Given the description of an element on the screen output the (x, y) to click on. 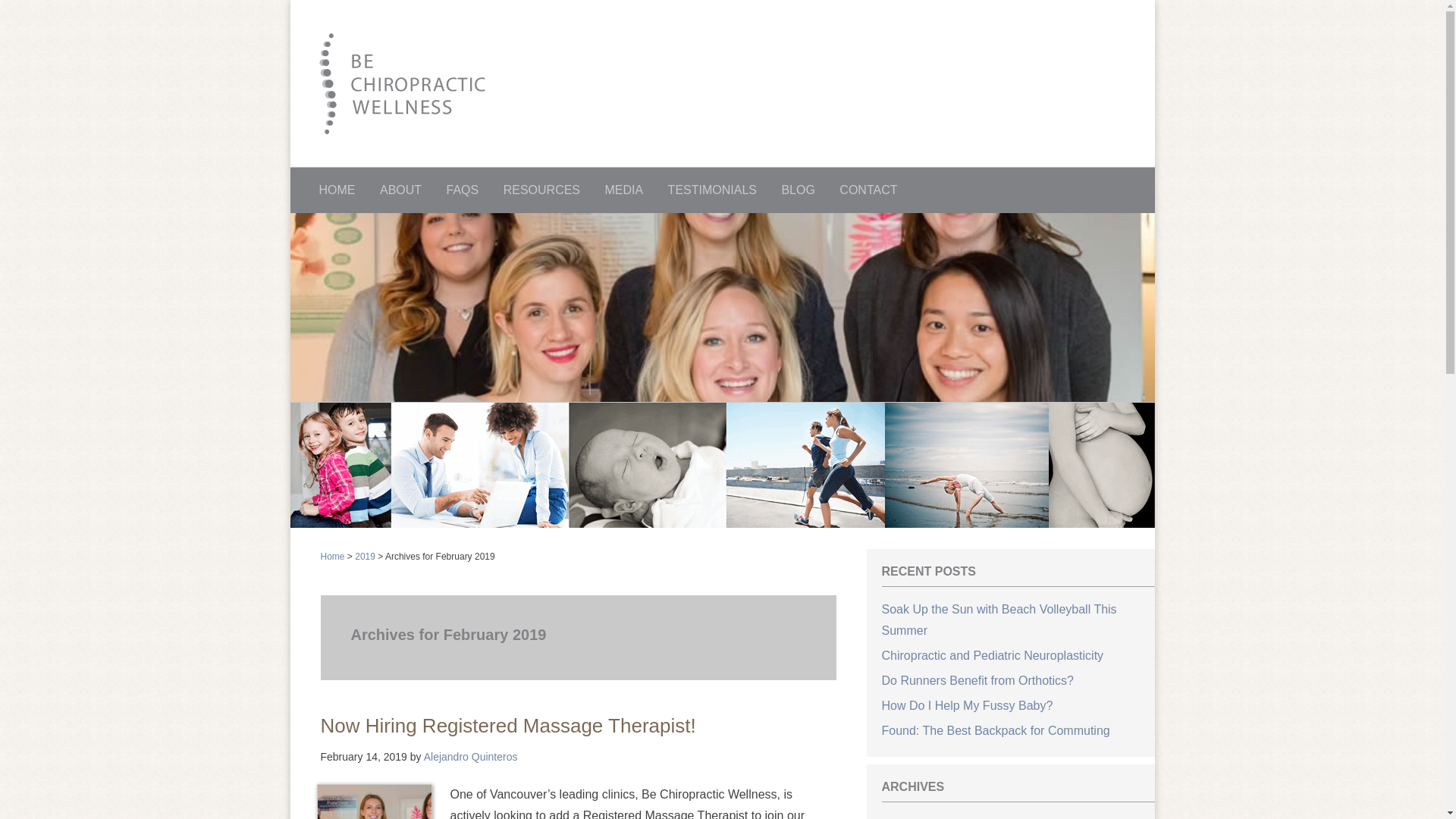
FAQS Element type: text (462, 190)
Alejandro Quinteros Element type: text (470, 756)
BLOG Element type: text (797, 190)
HOME Element type: text (336, 190)
Home Element type: text (332, 556)
2019 Element type: text (364, 556)
Do Runners Benefit from Orthotics? Element type: text (977, 680)
BE CHIROPRACTIC WELLNESS Element type: text (736, 83)
CONTACT Element type: text (867, 190)
RESOURCES Element type: text (541, 190)
Found: The Best Backpack for Commuting Element type: text (995, 730)
ABOUT Element type: text (400, 190)
How Do I Help My Fussy Baby? Element type: text (966, 705)
MEDIA Element type: text (623, 190)
Chiropractic and Pediatric Neuroplasticity Element type: text (992, 655)
TESTIMONIALS Element type: text (712, 190)
Soak Up the Sun with Beach Volleyball This Summer Element type: text (998, 619)
Now Hiring Registered Massage Therapist! Element type: text (507, 725)
